Given the description of an element on the screen output the (x, y) to click on. 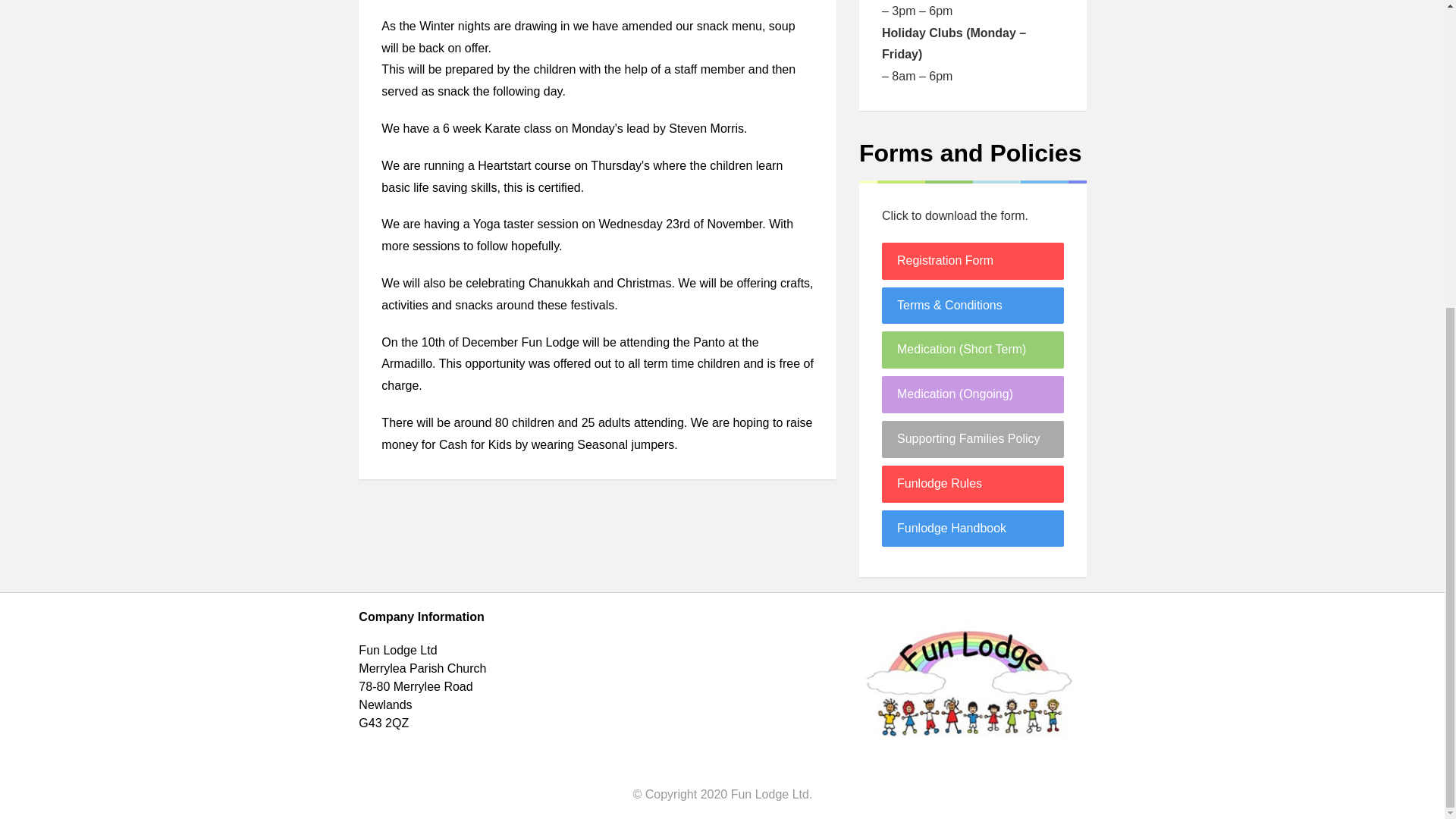
Supporting Families Policy (973, 438)
Funlodge Rules (973, 484)
Funlodge Handbook (973, 528)
Registration Form (973, 261)
